Given the description of an element on the screen output the (x, y) to click on. 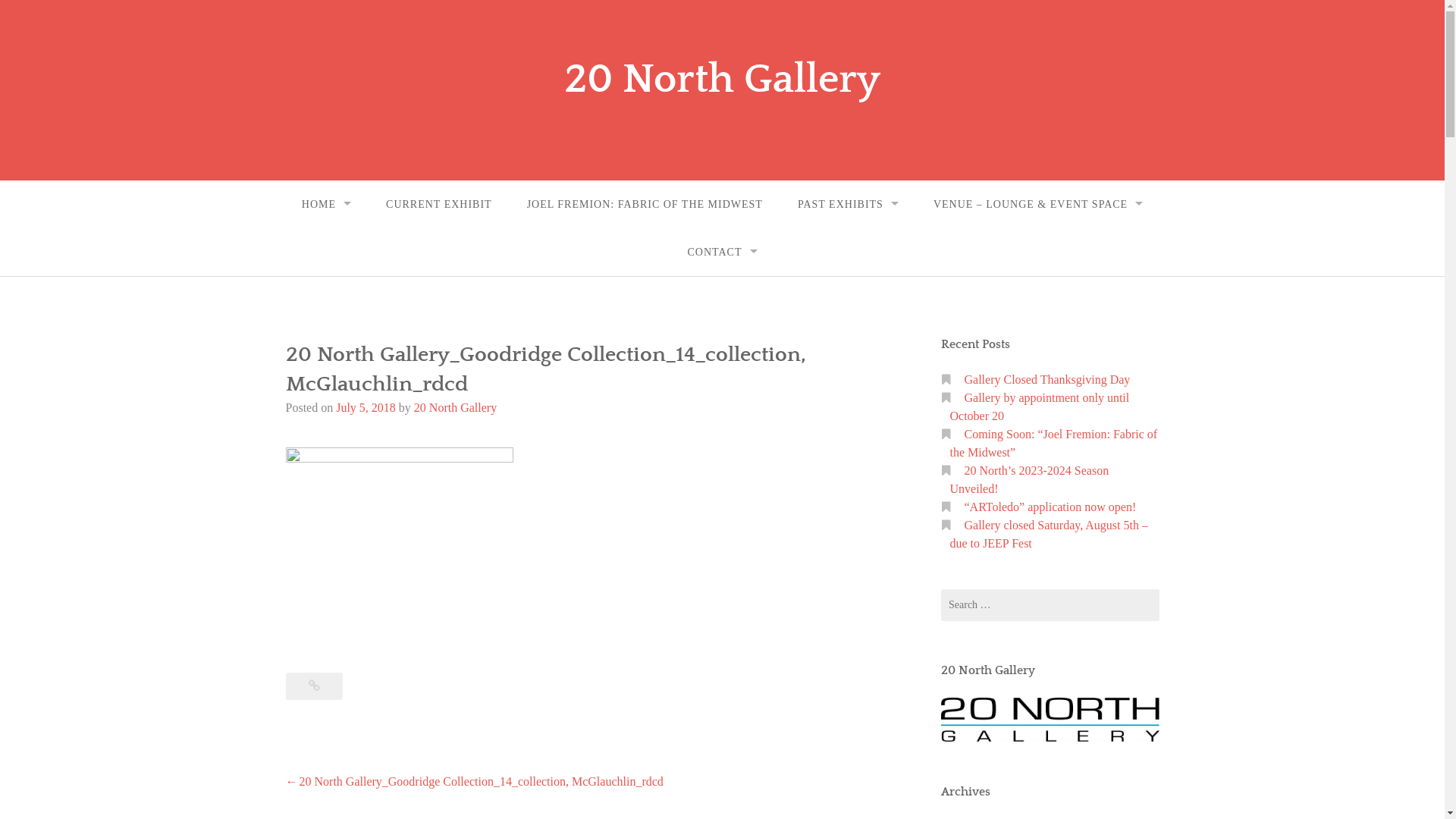
20 North Gallery Element type: text (455, 407)
HOME Element type: text (326, 204)
CURRENT EXHIBIT Element type: text (439, 204)
Gallery Closed Thanksgiving Day Element type: text (1047, 379)
JOEL FREMION: FABRIC OF THE MIDWEST Element type: text (644, 204)
CONTACT Element type: text (722, 252)
Search Element type: text (28, 14)
20 North Gallery Element type: text (722, 79)
PAST EXHIBITS Element type: text (847, 204)
July 5, 2018 Element type: text (365, 407)
Gallery by appointment only until October 20 Element type: text (1039, 406)
